Given the description of an element on the screen output the (x, y) to click on. 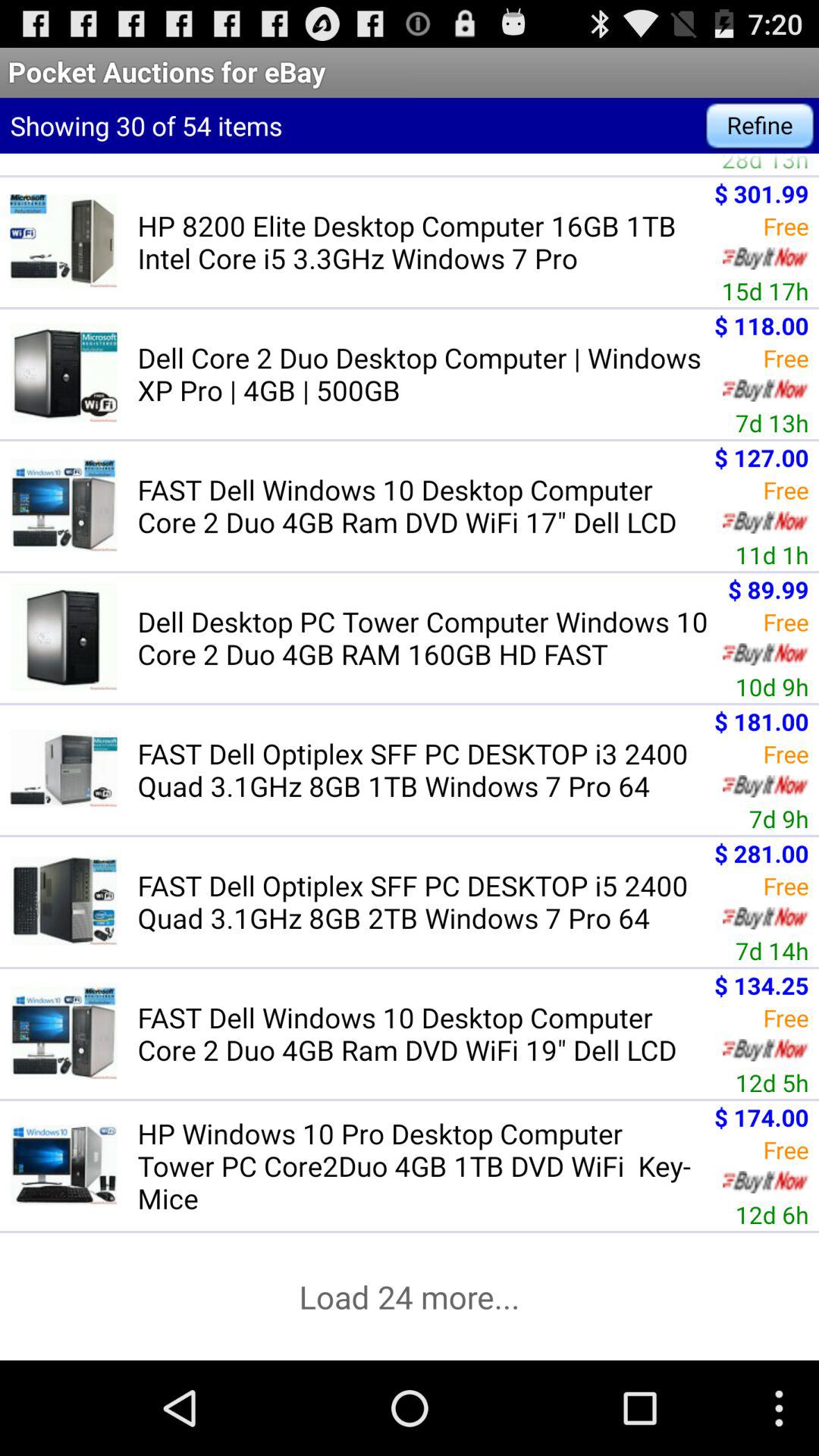
launch the button below the refine icon (764, 164)
